Given the description of an element on the screen output the (x, y) to click on. 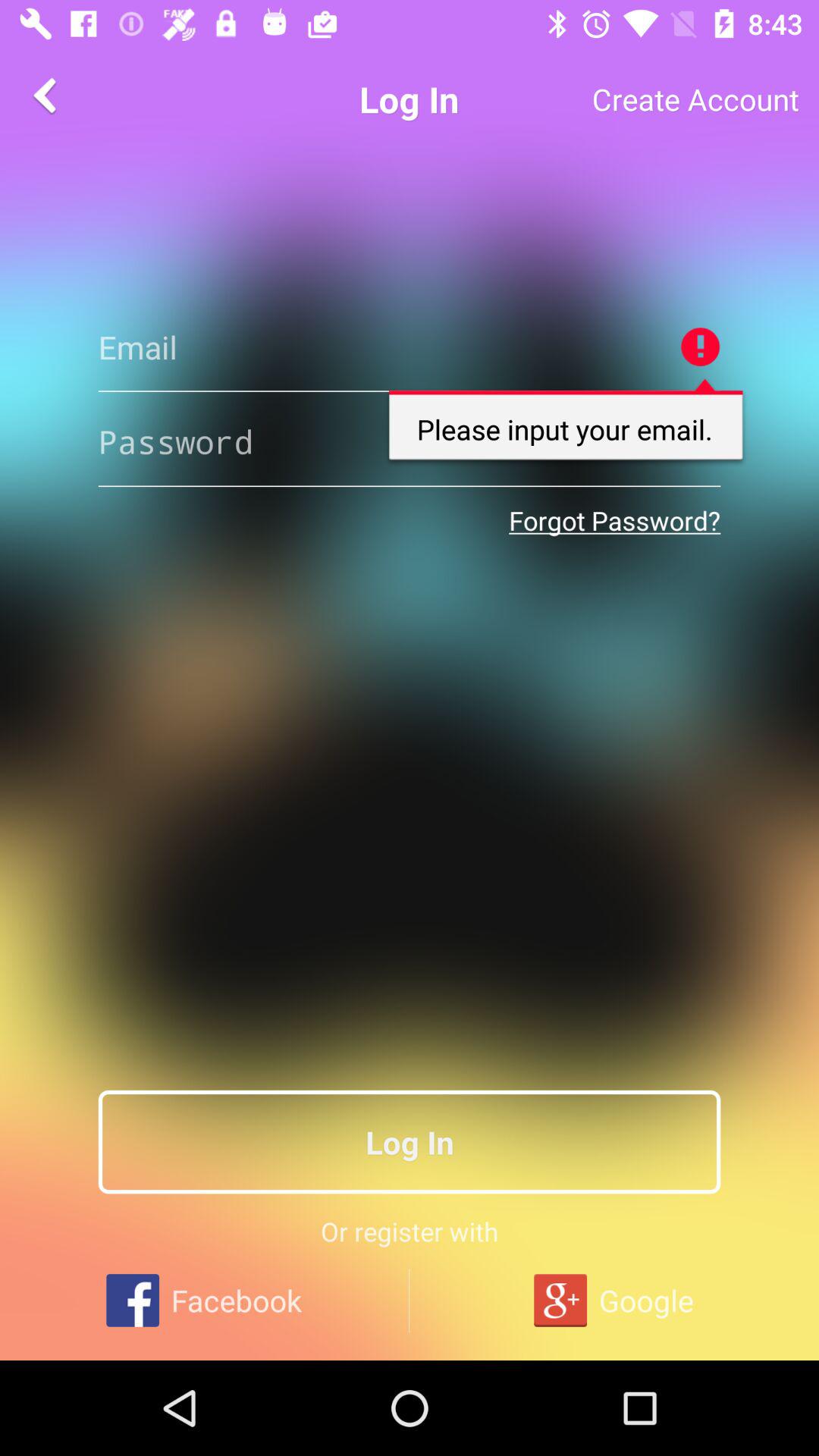
go to previous (47, 95)
